Given the description of an element on the screen output the (x, y) to click on. 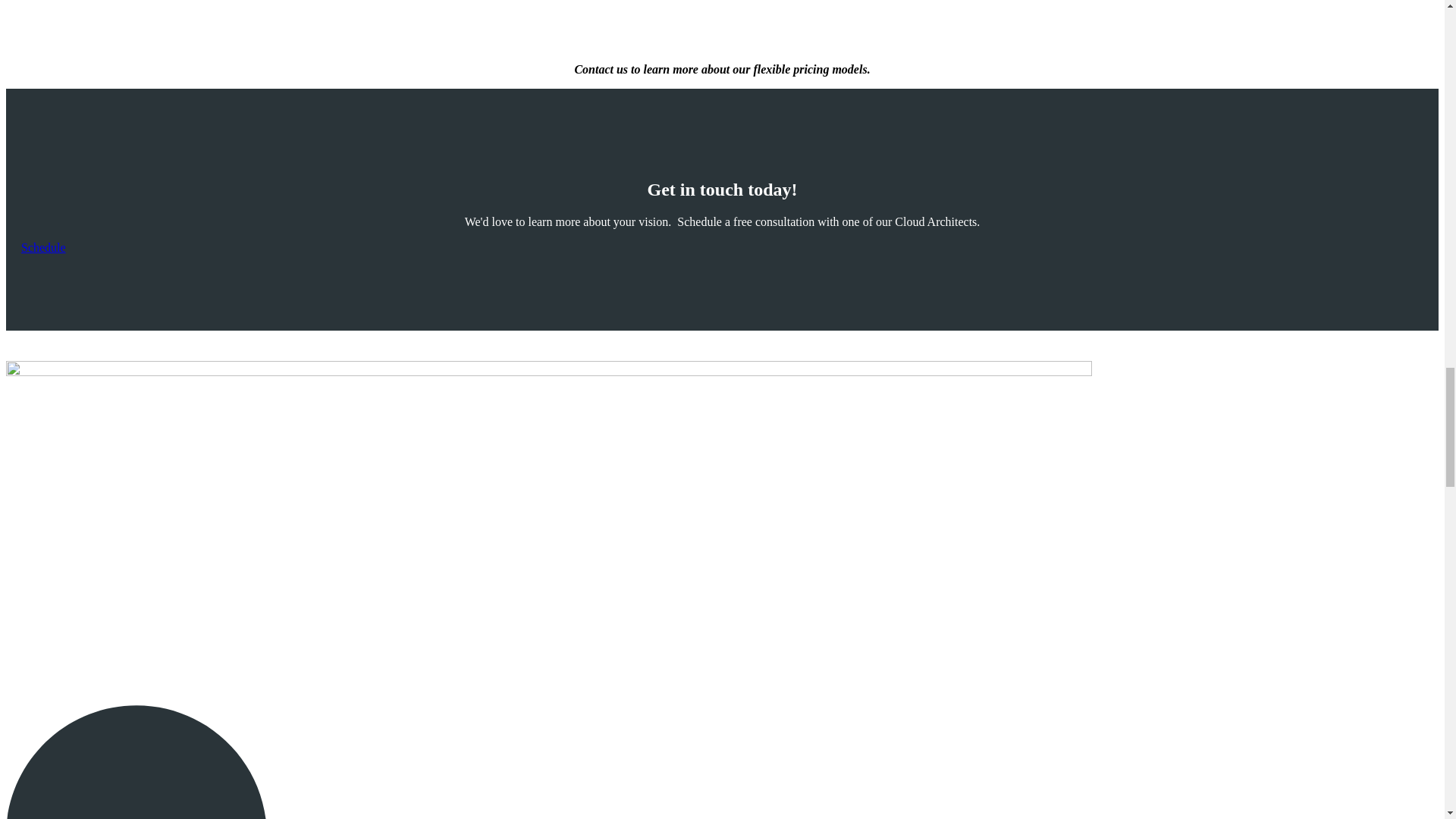
Schedule (43, 246)
